Given the description of an element on the screen output the (x, y) to click on. 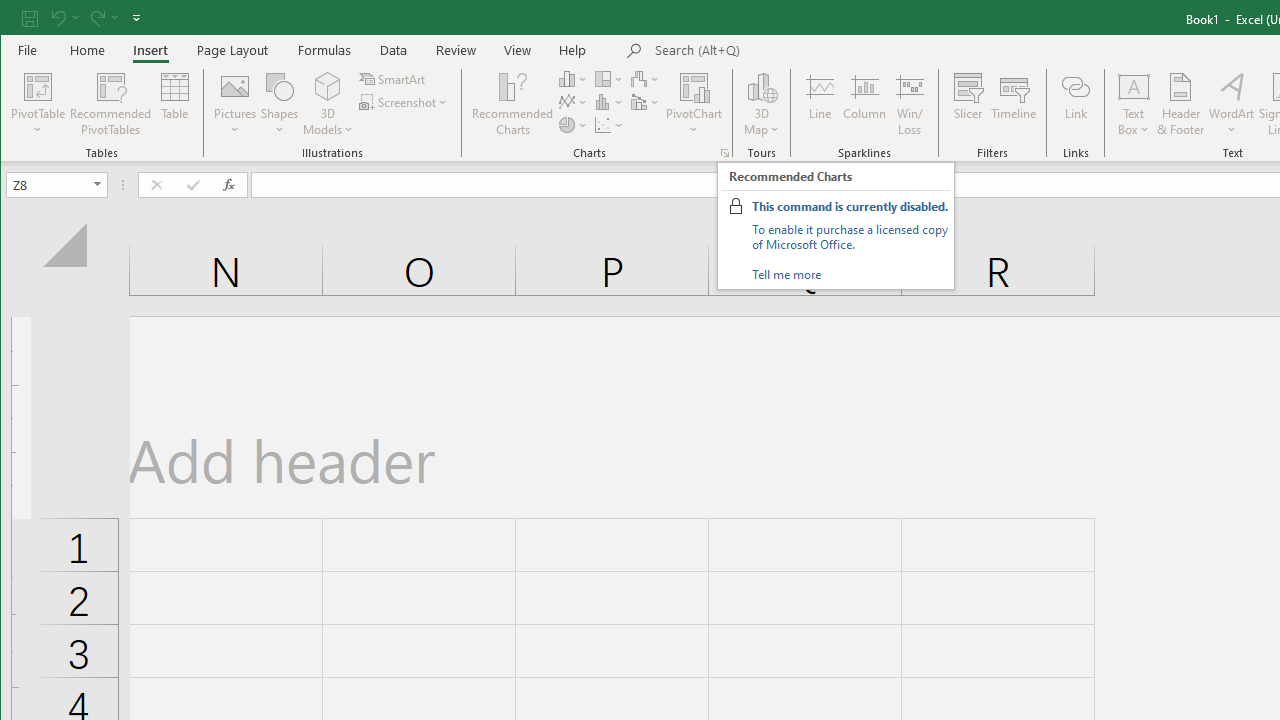
PivotChart (694, 104)
PivotChart (694, 86)
Table (174, 104)
Recommended PivotTables (110, 104)
Win/Loss (909, 104)
Insert Column or Bar Chart (573, 78)
PivotTable (37, 104)
3D Map (762, 86)
Draw Horizontal Text Box (1133, 86)
3D Models (327, 86)
